Given the description of an element on the screen output the (x, y) to click on. 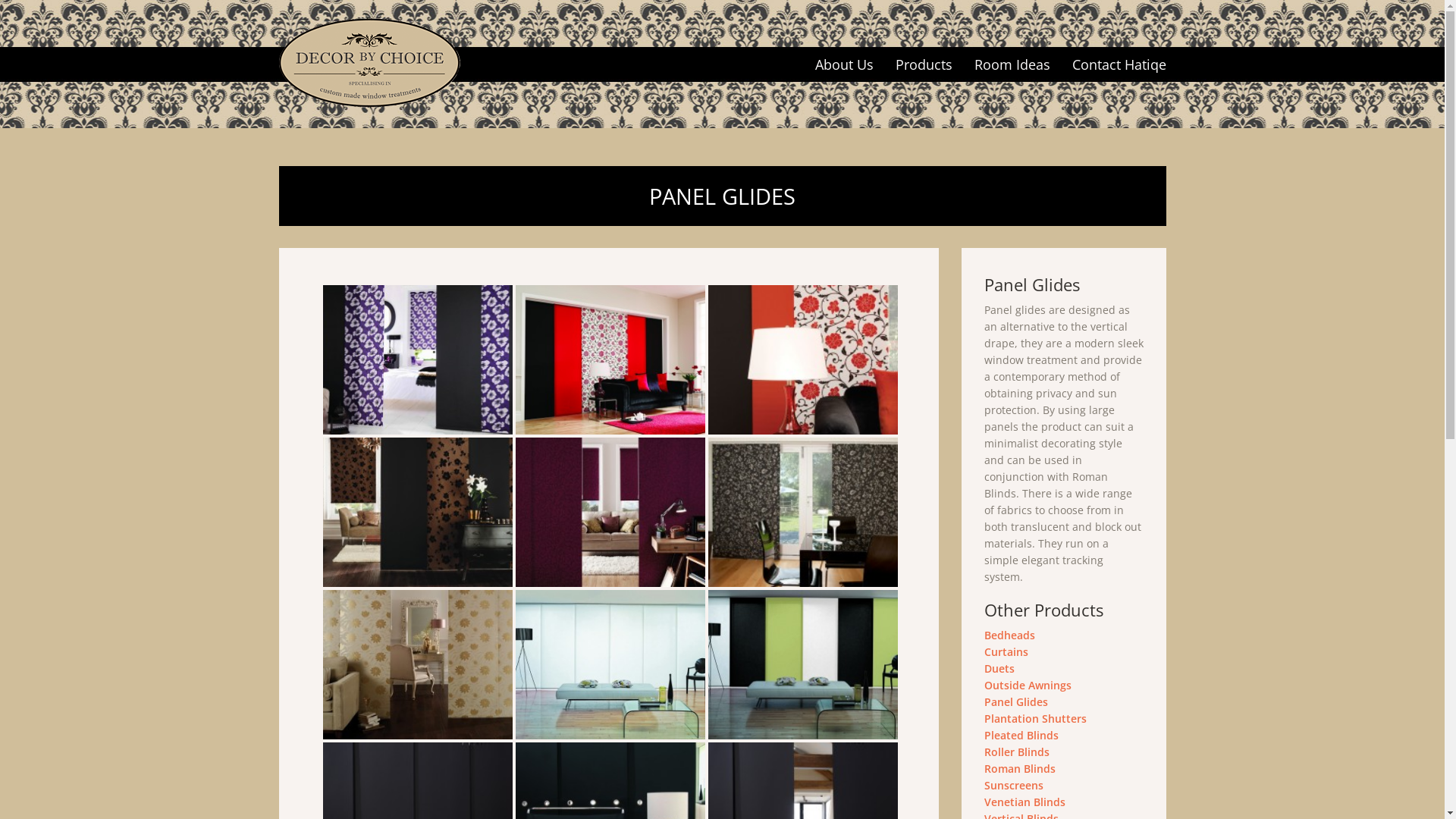
panel-poppy-purple-plaintex-black Element type: hover (417, 359)
About Us Element type: text (843, 64)
panel-glides-dahlia-champagne Element type: hover (416, 664)
Products Element type: text (922, 64)
Room Ideas Element type: text (1011, 64)
Curtains & Blinds Victor Harbor Element type: hover (369, 62)
panel-glides-tudor-moreton2 Element type: hover (609, 359)
panel-glides-tudor-moreton Element type: hover (802, 359)
Plantation Shutters Element type: text (1035, 718)
Pleated Blinds Element type: text (1021, 735)
panel-glides-taffeta-chocolate-raven Element type: hover (416, 511)
panel-glides-laurel-damson Element type: hover (609, 511)
Roller Blinds Element type: text (1016, 751)
Roman Blinds Element type: text (1019, 768)
Venetian Blinds Element type: text (1024, 801)
Curtains Element type: text (1006, 651)
panel-glides-kimono-raven Element type: hover (801, 511)
Bedheads Element type: text (1009, 634)
Outside Awnings Element type: text (1027, 684)
Contact Hatiqe Element type: text (1119, 64)
panel-glides-carnival-moss Element type: hover (802, 664)
panel-glides-carnival-white Element type: hover (609, 664)
Duets Element type: text (999, 668)
Panel Glides Element type: text (1016, 701)
Sunscreens Element type: text (1013, 785)
